Given the description of an element on the screen output the (x, y) to click on. 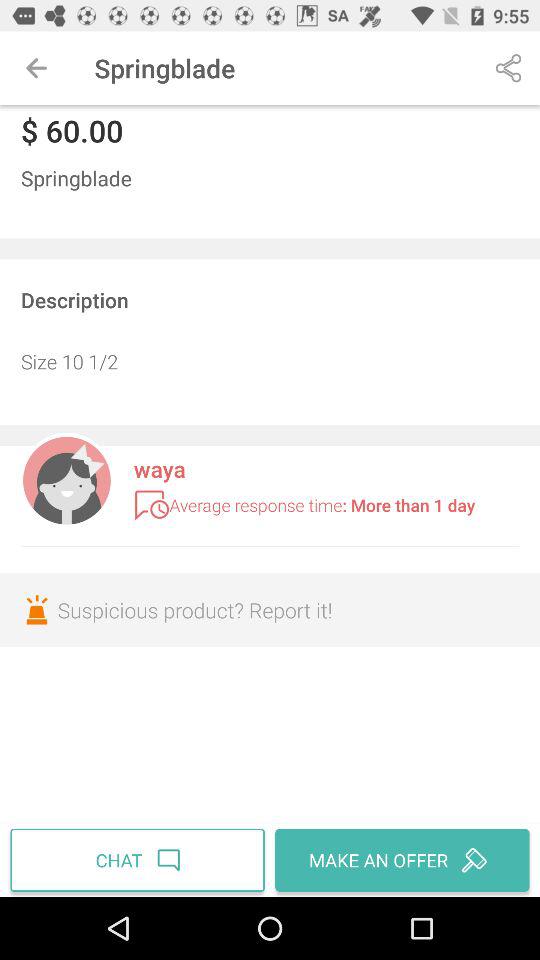
turn on the item at the bottom left corner (139, 860)
